Given the description of an element on the screen output the (x, y) to click on. 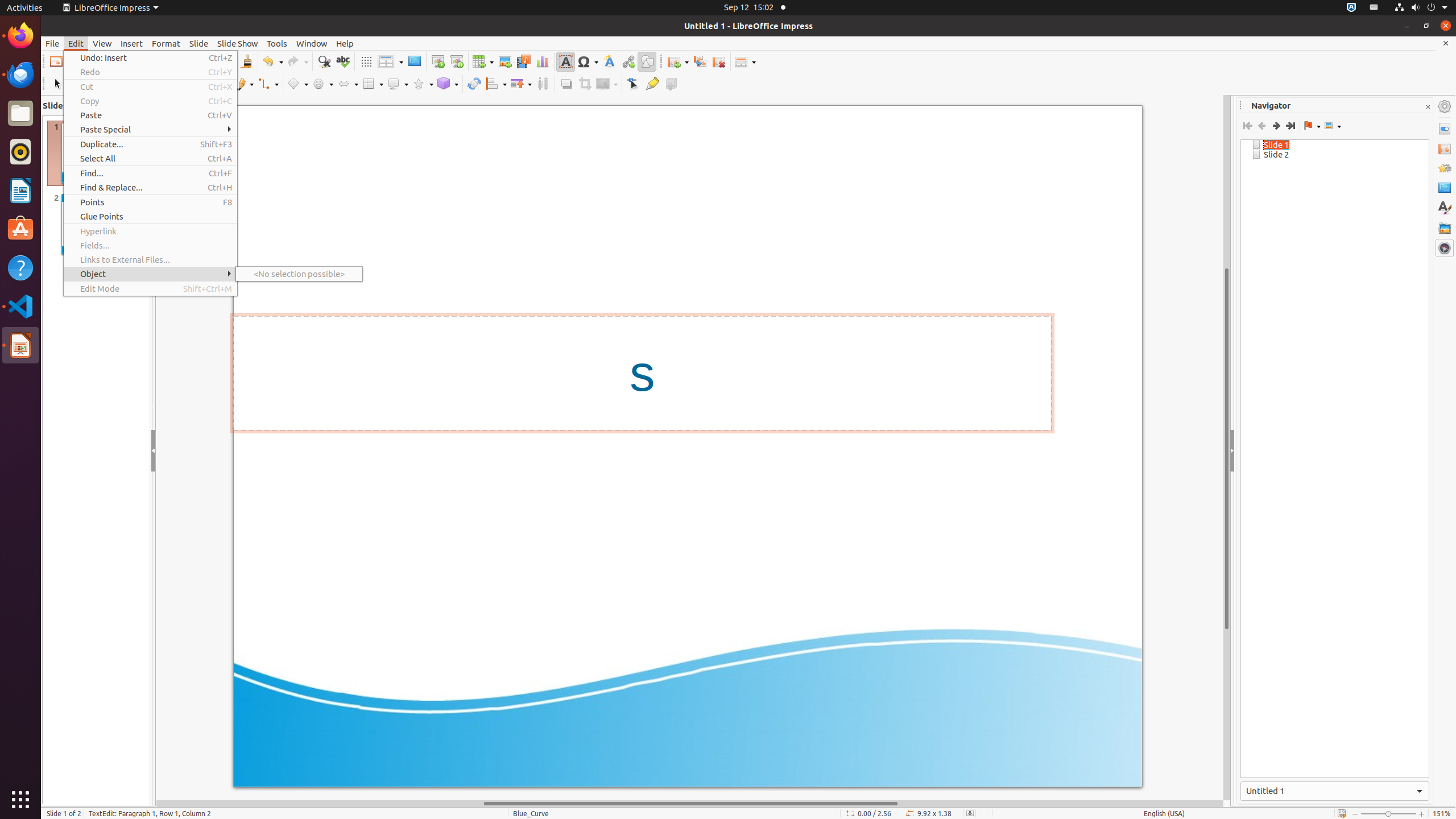
Format Element type: menu (165, 43)
Thunderbird Mail Element type: push-button (20, 74)
View Element type: menu (102, 43)
Undo: Insert Element type: menu-item (150, 57)
Window Element type: menu (311, 43)
